Given the description of an element on the screen output the (x, y) to click on. 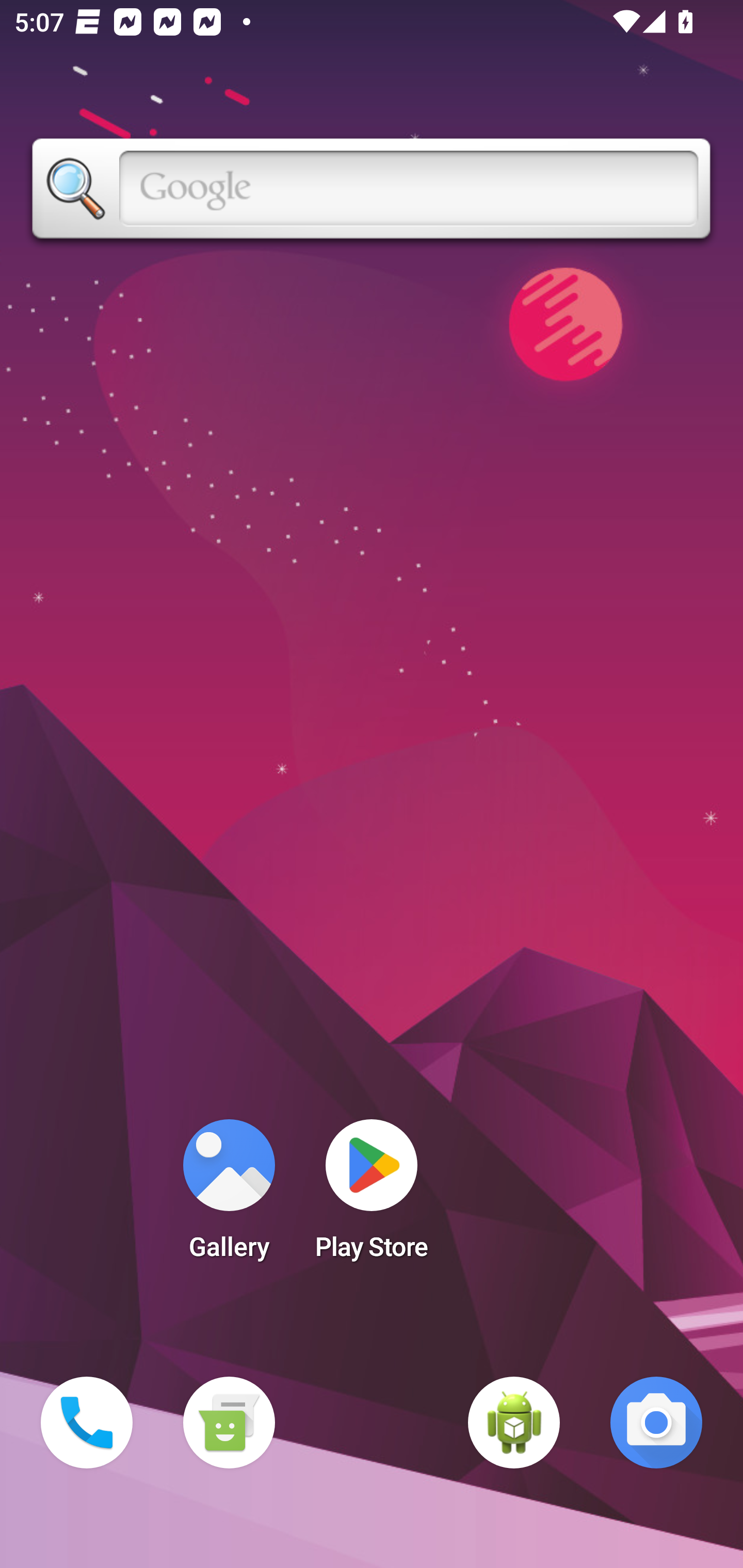
Gallery (228, 1195)
Play Store (371, 1195)
Phone (86, 1422)
Messaging (228, 1422)
WebView Browser Tester (513, 1422)
Camera (656, 1422)
